Given the description of an element on the screen output the (x, y) to click on. 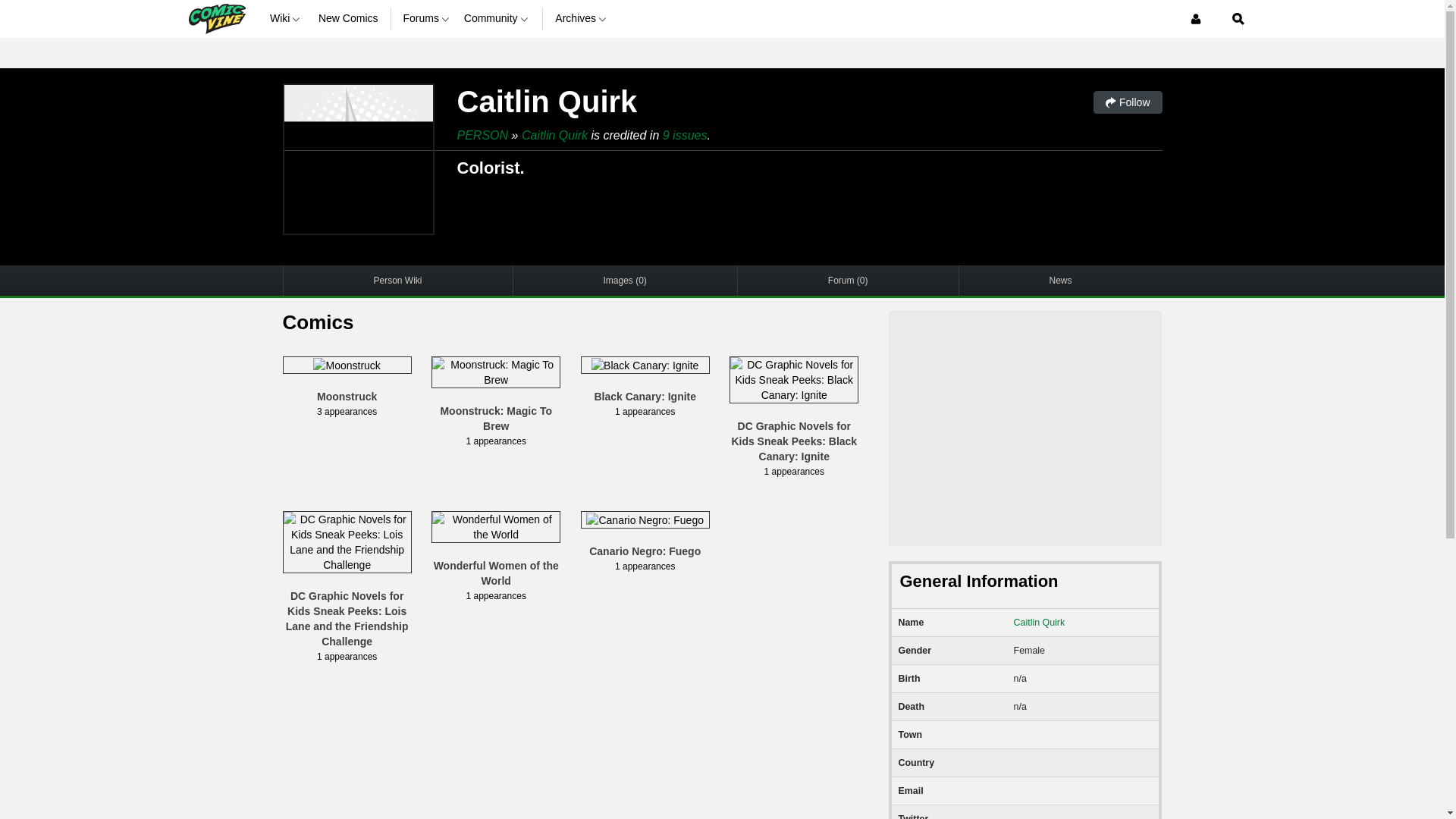
Forums (427, 18)
New Comics (348, 18)
Community (497, 18)
Comic Vine (215, 18)
Wiki (287, 18)
